Given the description of an element on the screen output the (x, y) to click on. 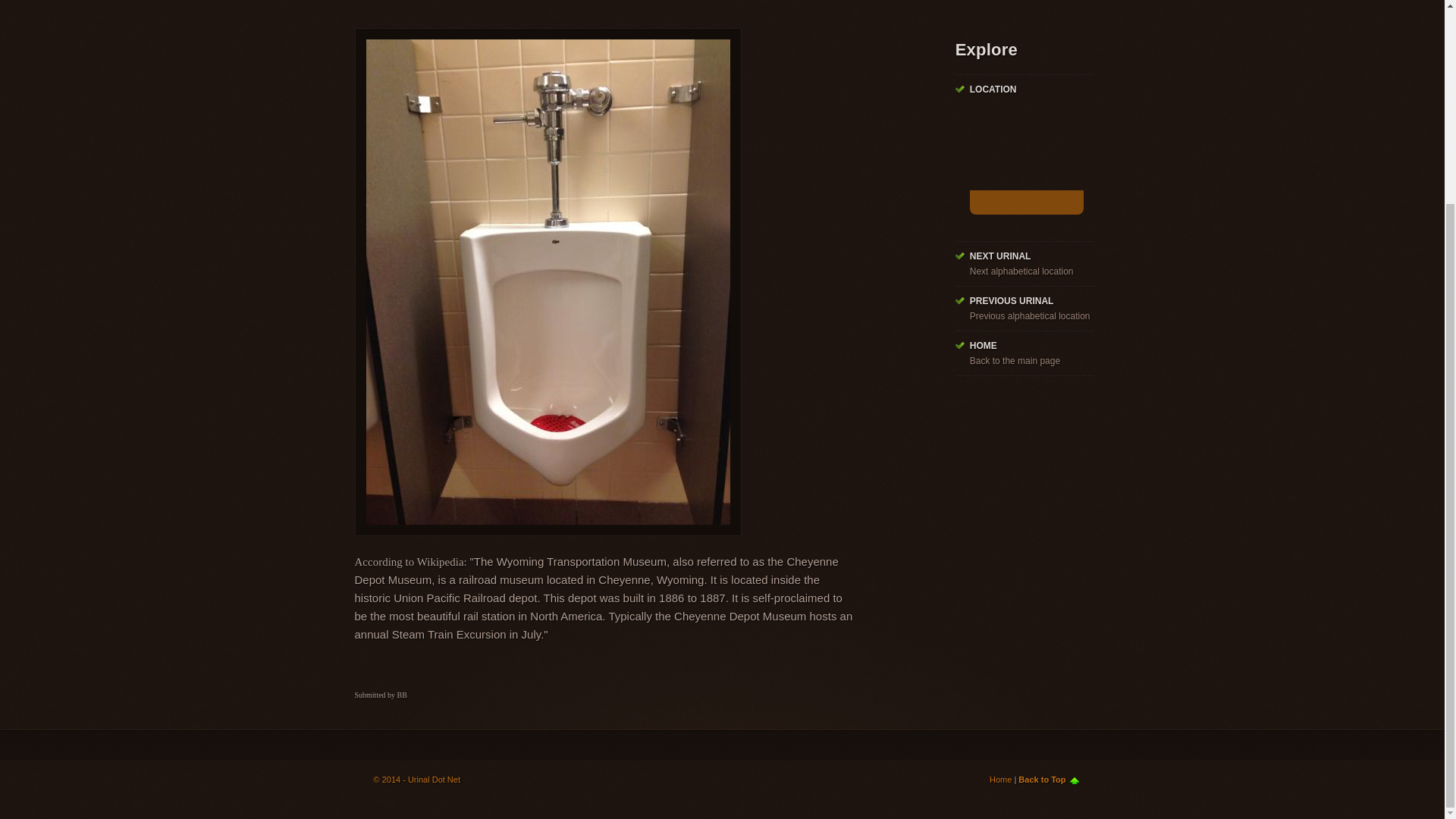
Click for map (1026, 162)
LOCATION (992, 89)
PREVIOUS URINAL (1011, 300)
HOME (983, 345)
Advertisement (631, 3)
NEXT URINAL (999, 255)
Click for map (1026, 202)
Back to Top (1047, 778)
Home (1000, 778)
